Given the description of an element on the screen output the (x, y) to click on. 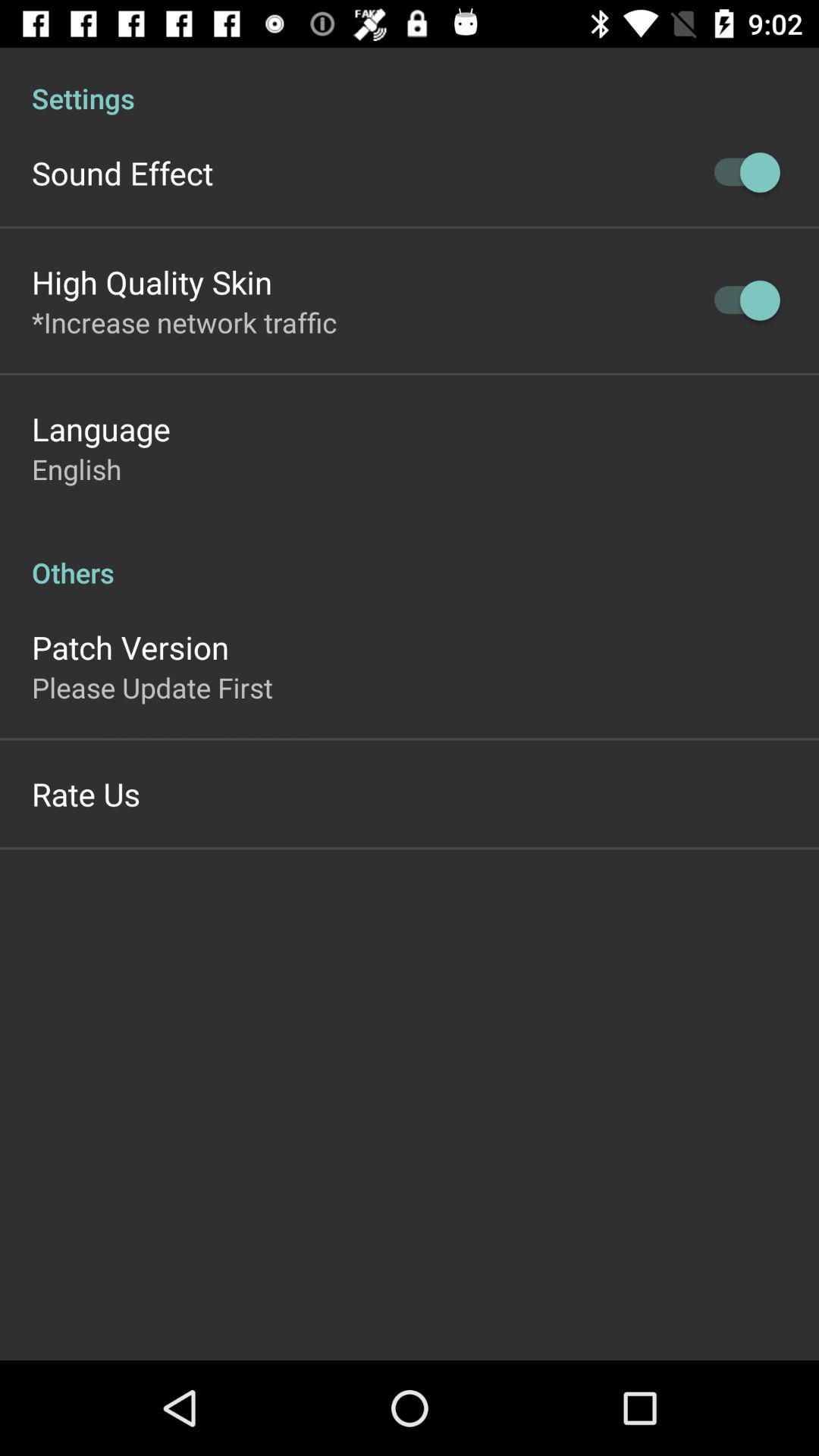
press others icon (409, 556)
